Given the description of an element on the screen output the (x, y) to click on. 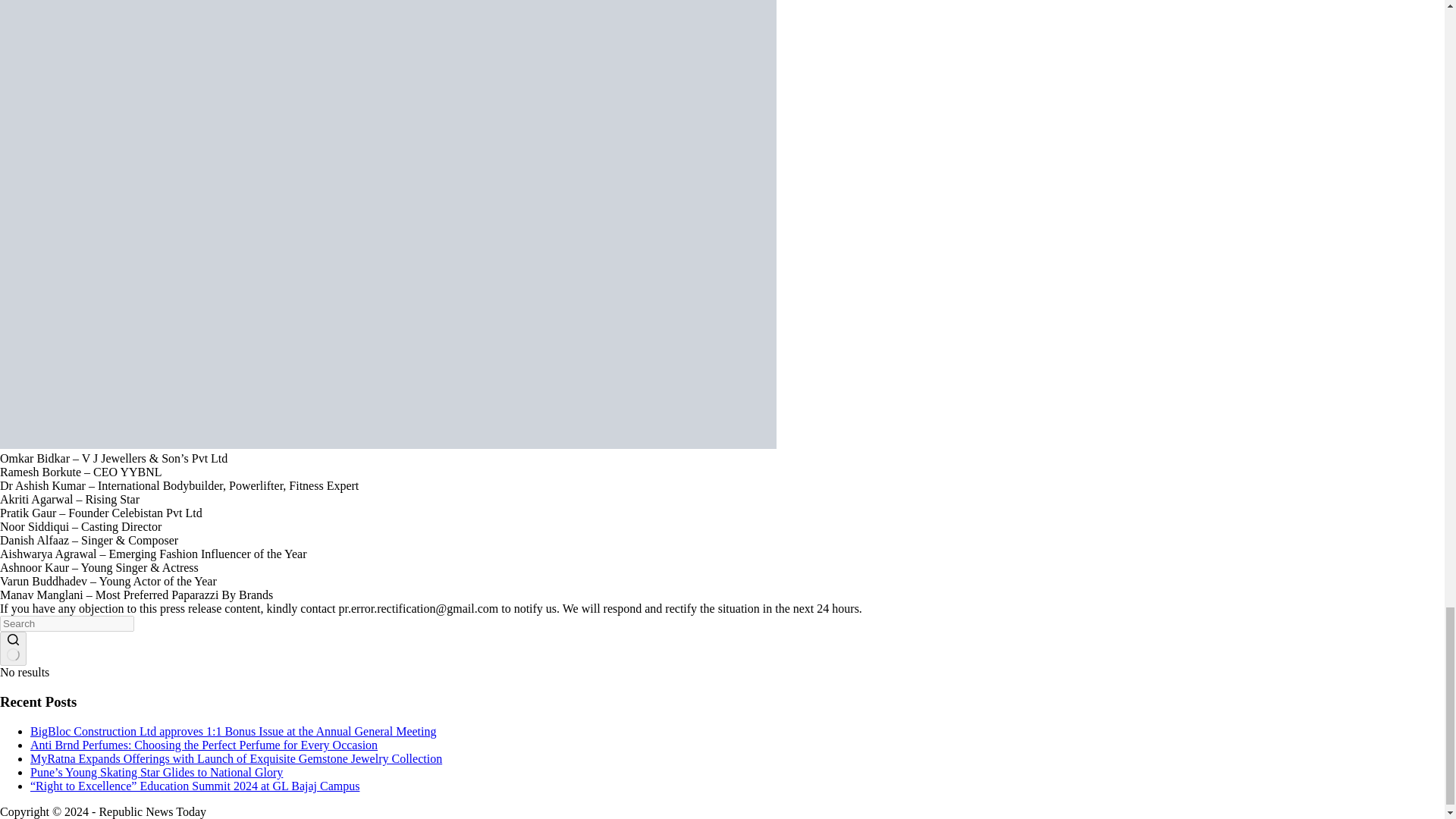
Search for... (66, 623)
